Given the description of an element on the screen output the (x, y) to click on. 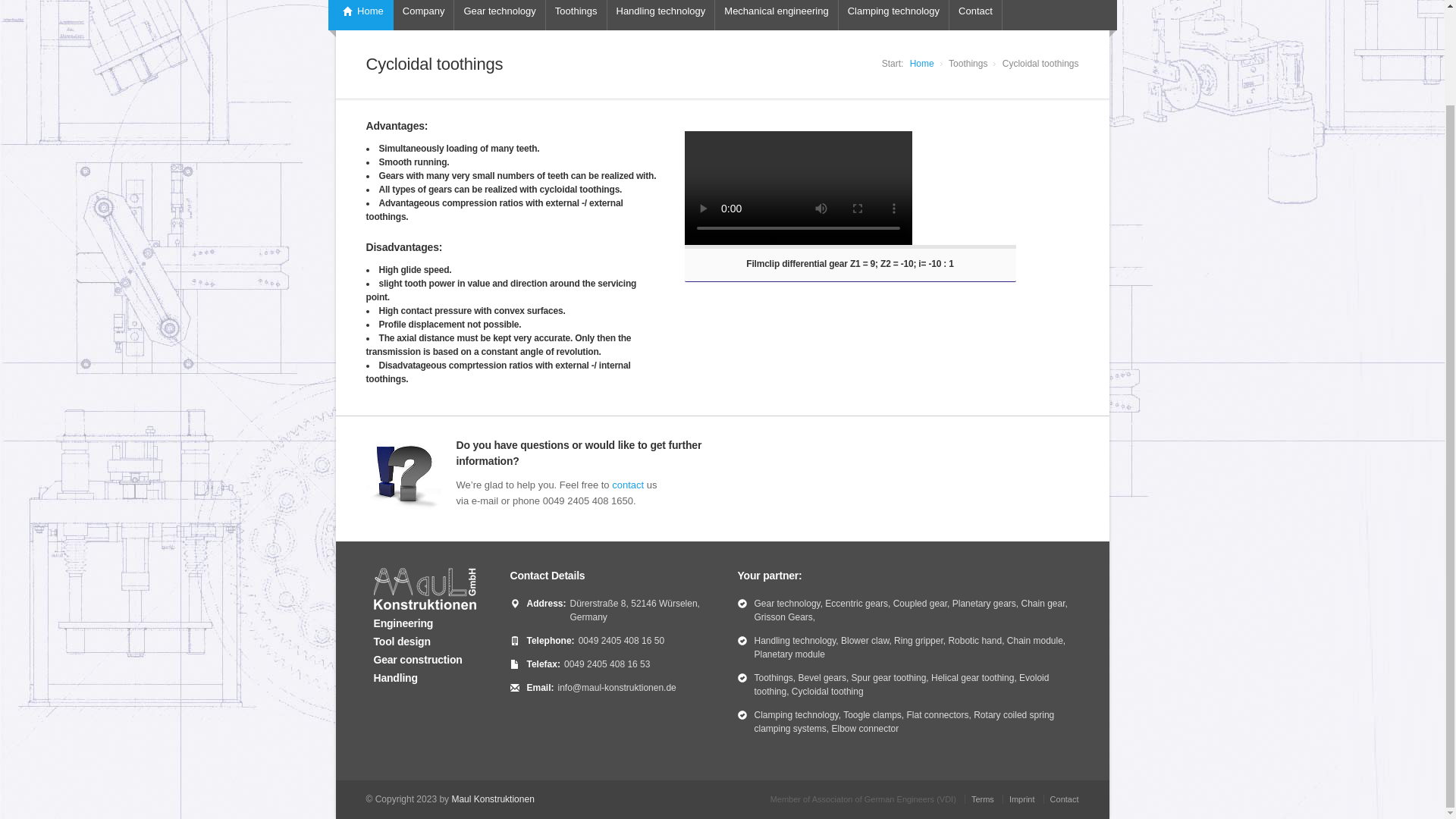
Home (360, 15)
Company (423, 15)
Gear technology (499, 15)
